Given the description of an element on the screen output the (x, y) to click on. 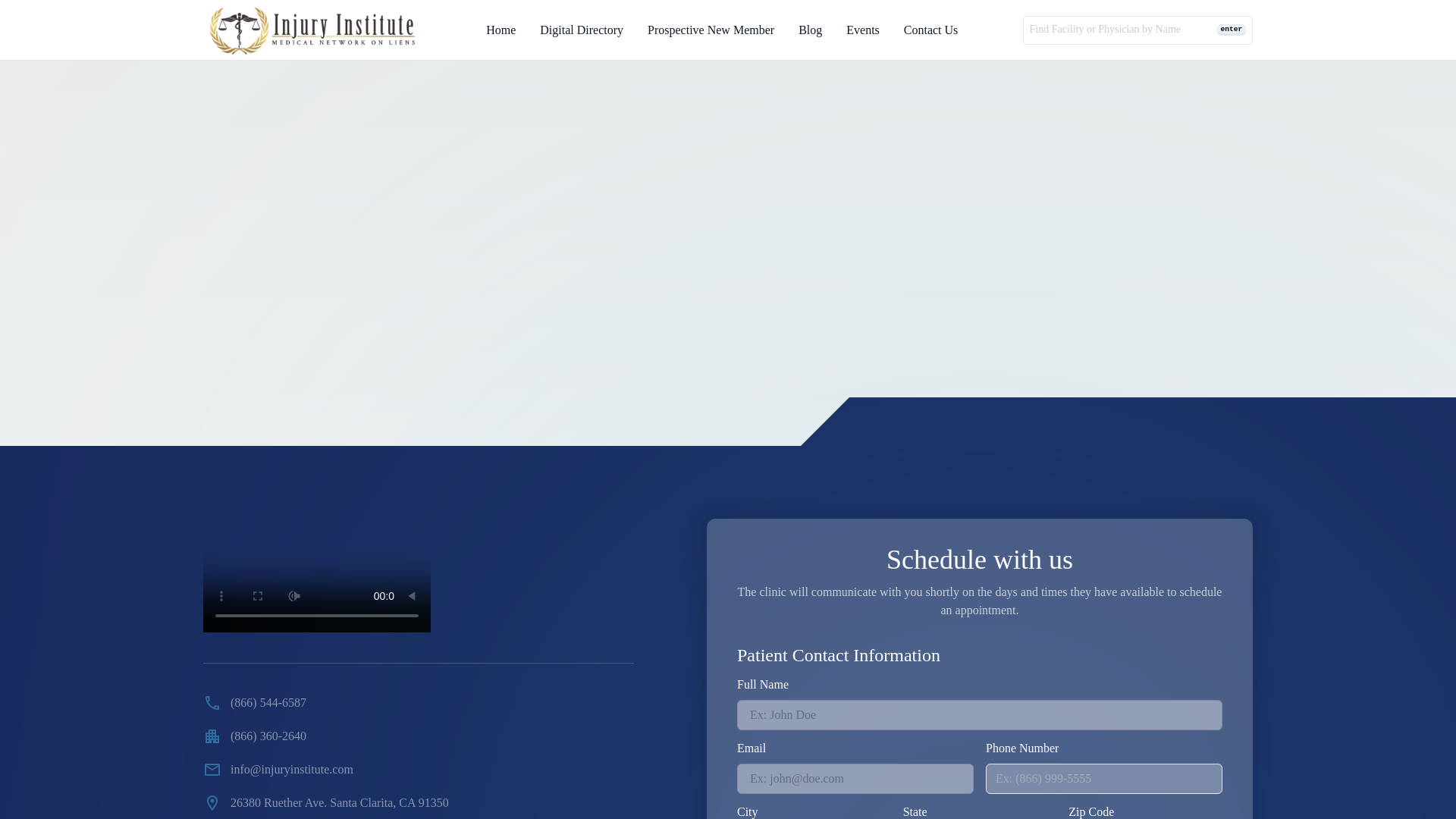
26380 Ruether Ave. Santa Clarita, CA 91350 (418, 802)
26380 Ruether Ave. Santa Clarita, CA 91350 (325, 802)
